Given the description of an element on the screen output the (x, y) to click on. 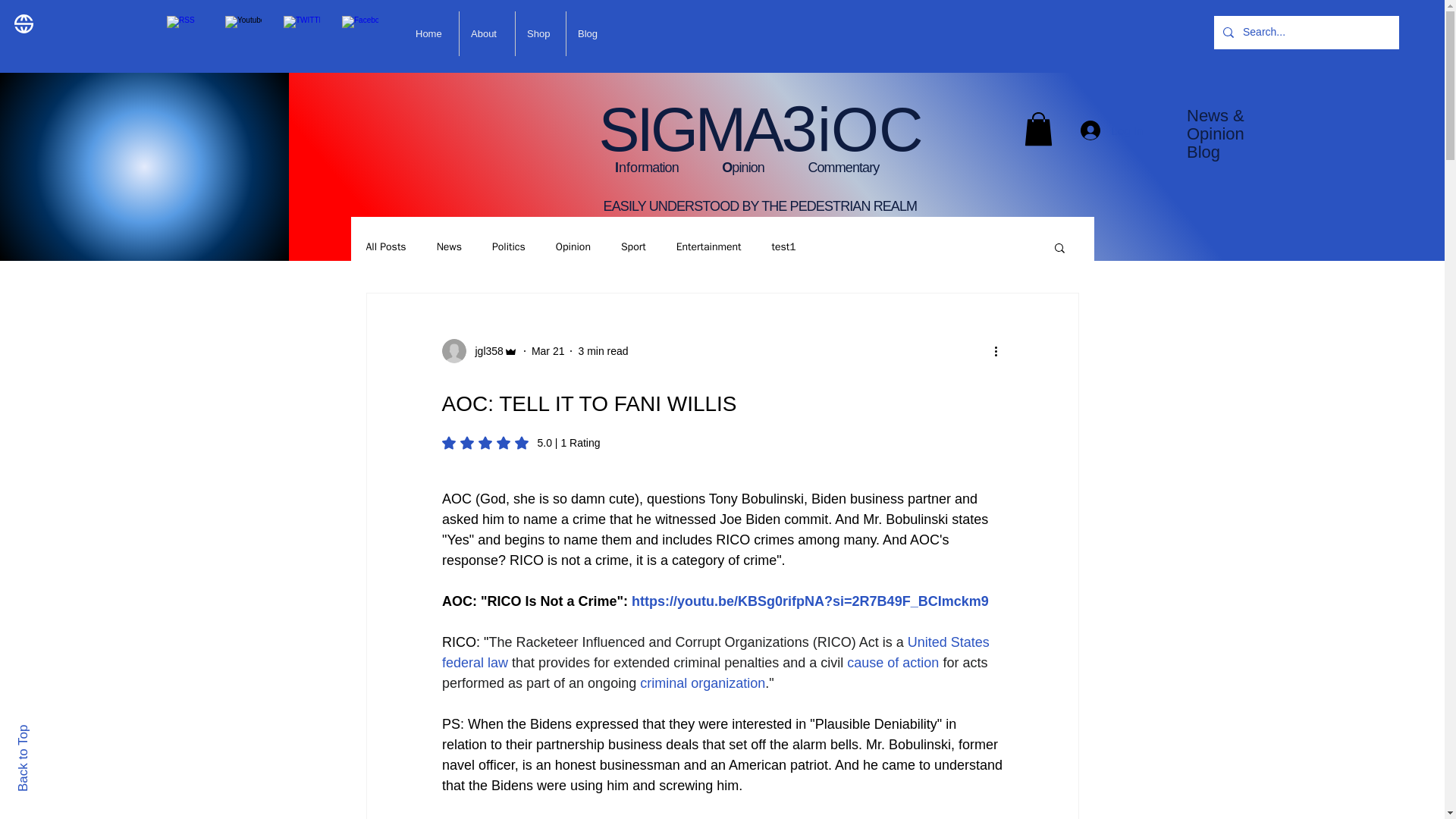
All Posts (385, 246)
cause of action (893, 662)
jgl358 (483, 351)
criminal organization (702, 683)
Mar 21 (547, 350)
News (448, 246)
jgl358 (478, 351)
test1 (782, 246)
 SIGMA (682, 129)
United States federal law (716, 652)
